Given the description of an element on the screen output the (x, y) to click on. 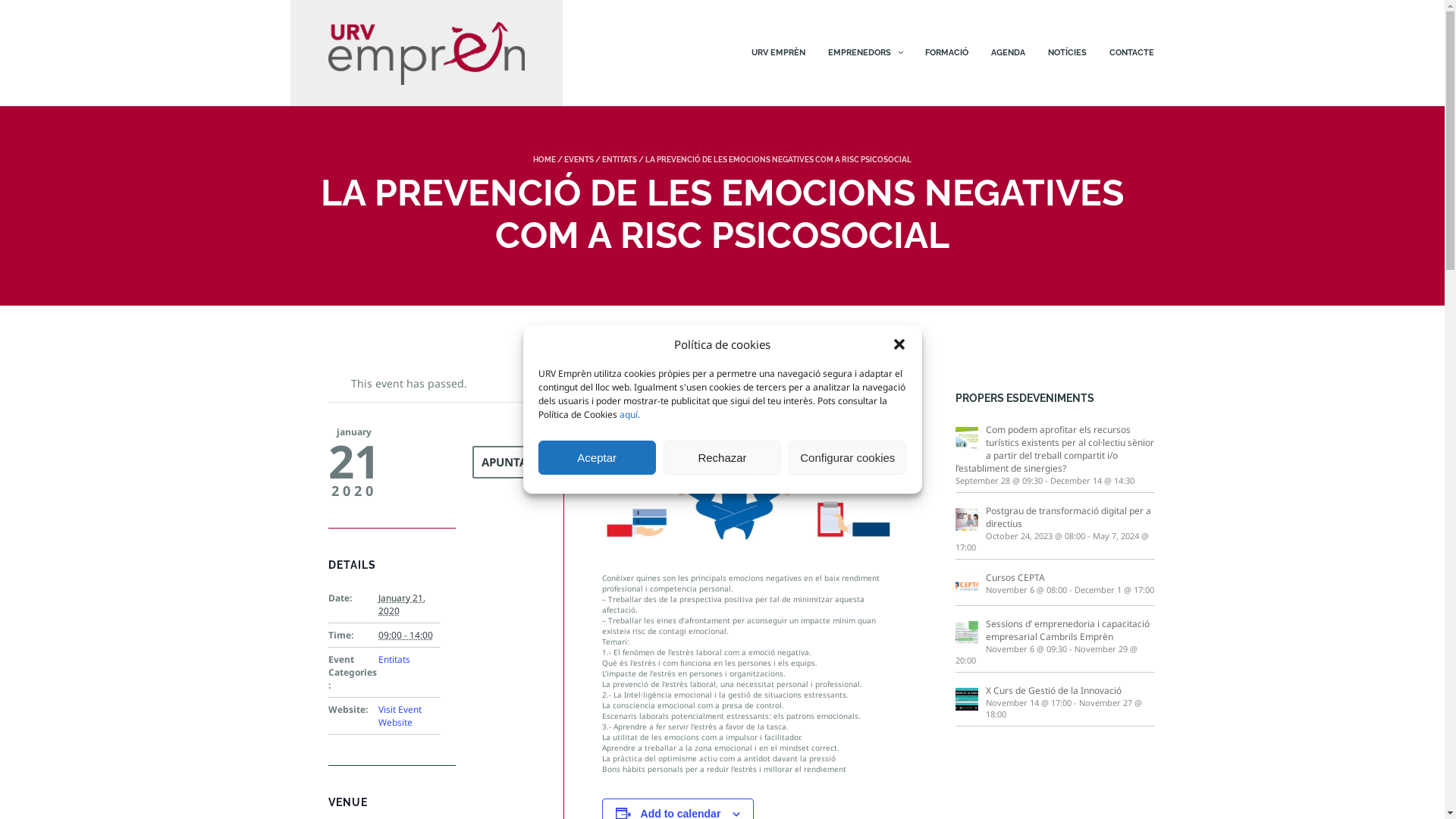
Rechazar Element type: text (722, 457)
Aceptar Element type: text (596, 457)
Cursos CEPTA Element type: text (1054, 577)
APUNTA'T! Element type: text (510, 461)
EMPRENEDORS Element type: text (864, 52)
EVENTS Element type: text (578, 159)
ENTITATS Element type: text (619, 159)
Entitats Element type: text (394, 658)
HOME Element type: text (544, 159)
Visit Event Website Element type: text (399, 715)
Configurar cookies Element type: text (847, 457)
AGENDA Element type: text (1007, 52)
CONTACTE Element type: text (1126, 52)
